Given the description of an element on the screen output the (x, y) to click on. 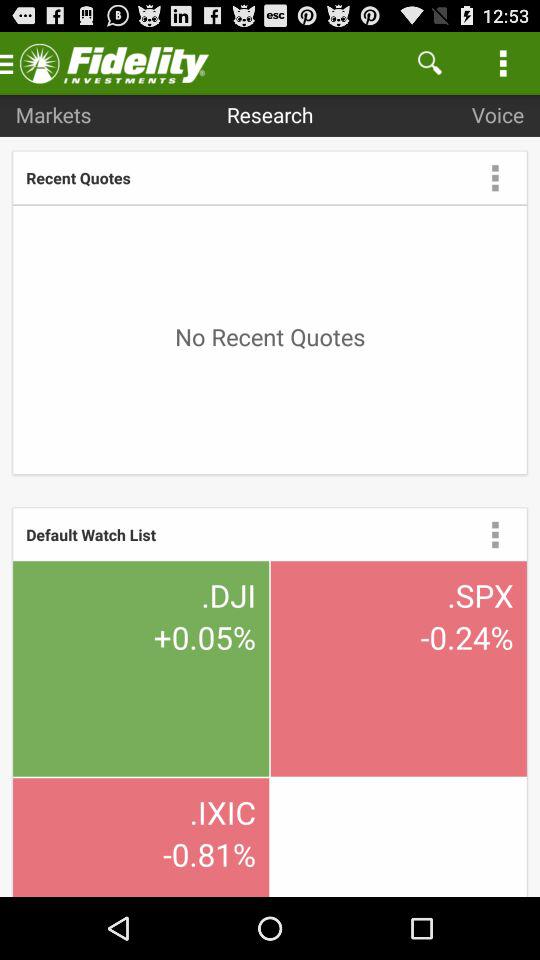
launch the item next to research icon (53, 114)
